Given the description of an element on the screen output the (x, y) to click on. 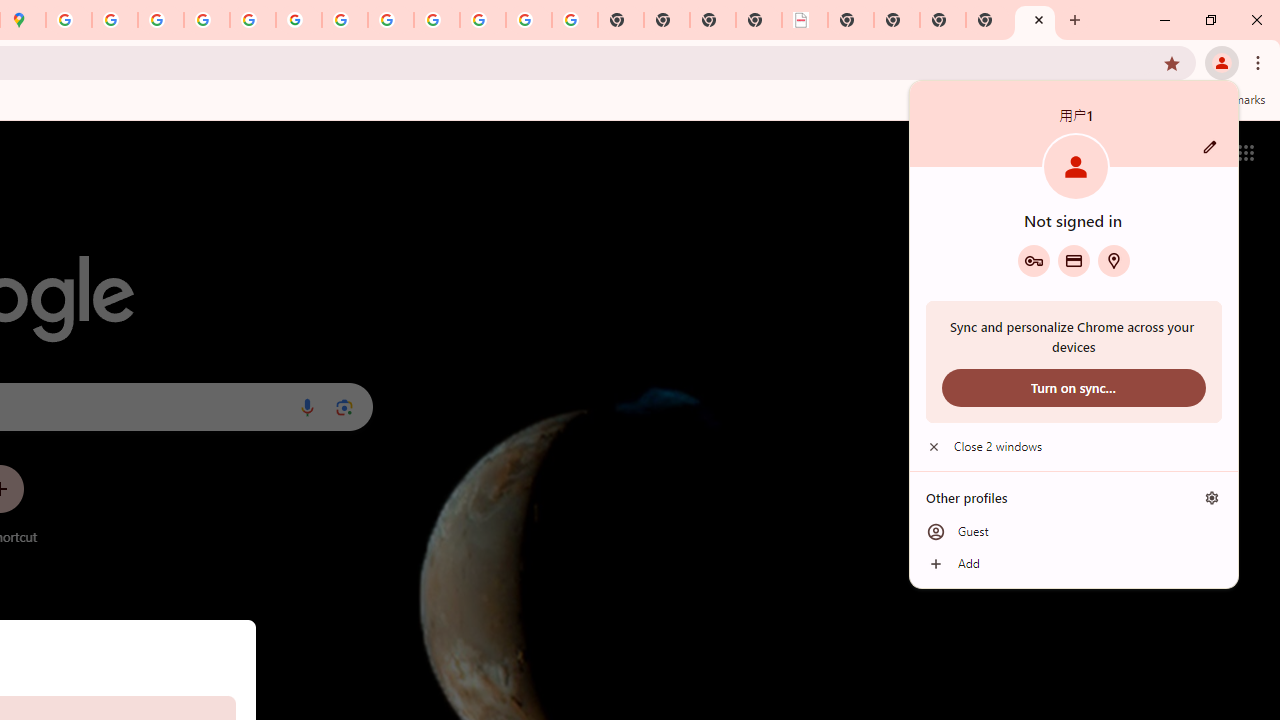
YouTube (345, 20)
Privacy Help Center - Policies Help (161, 20)
New Tab (989, 20)
Guest (1073, 531)
Google Password Manager (1033, 260)
Payment methods (1074, 260)
Close 2 windows (1073, 446)
